Given the description of an element on the screen output the (x, y) to click on. 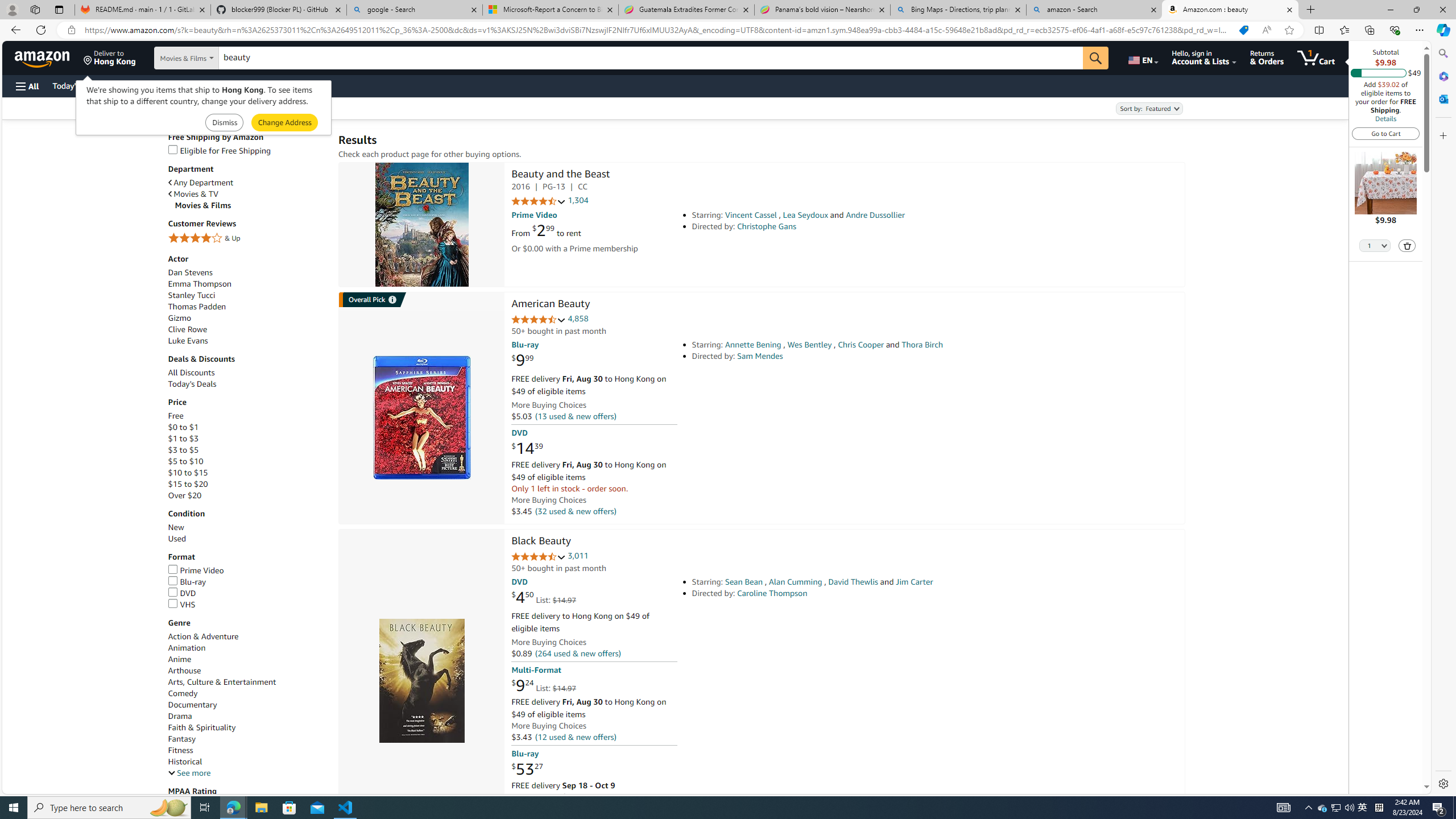
Emma Thompson (199, 283)
Stanley Tucci (191, 294)
Documentary (191, 704)
Arthouse (247, 670)
Over $20 (247, 495)
DVD (247, 593)
$0 to $1 (247, 427)
$10 to $15 (247, 472)
Action & Adventure (202, 636)
Luke Evans (187, 340)
Sean Bean (743, 581)
All Discounts (191, 372)
Amazon.com : beauty (1230, 9)
Today's Deals (247, 384)
